Given the description of an element on the screen output the (x, y) to click on. 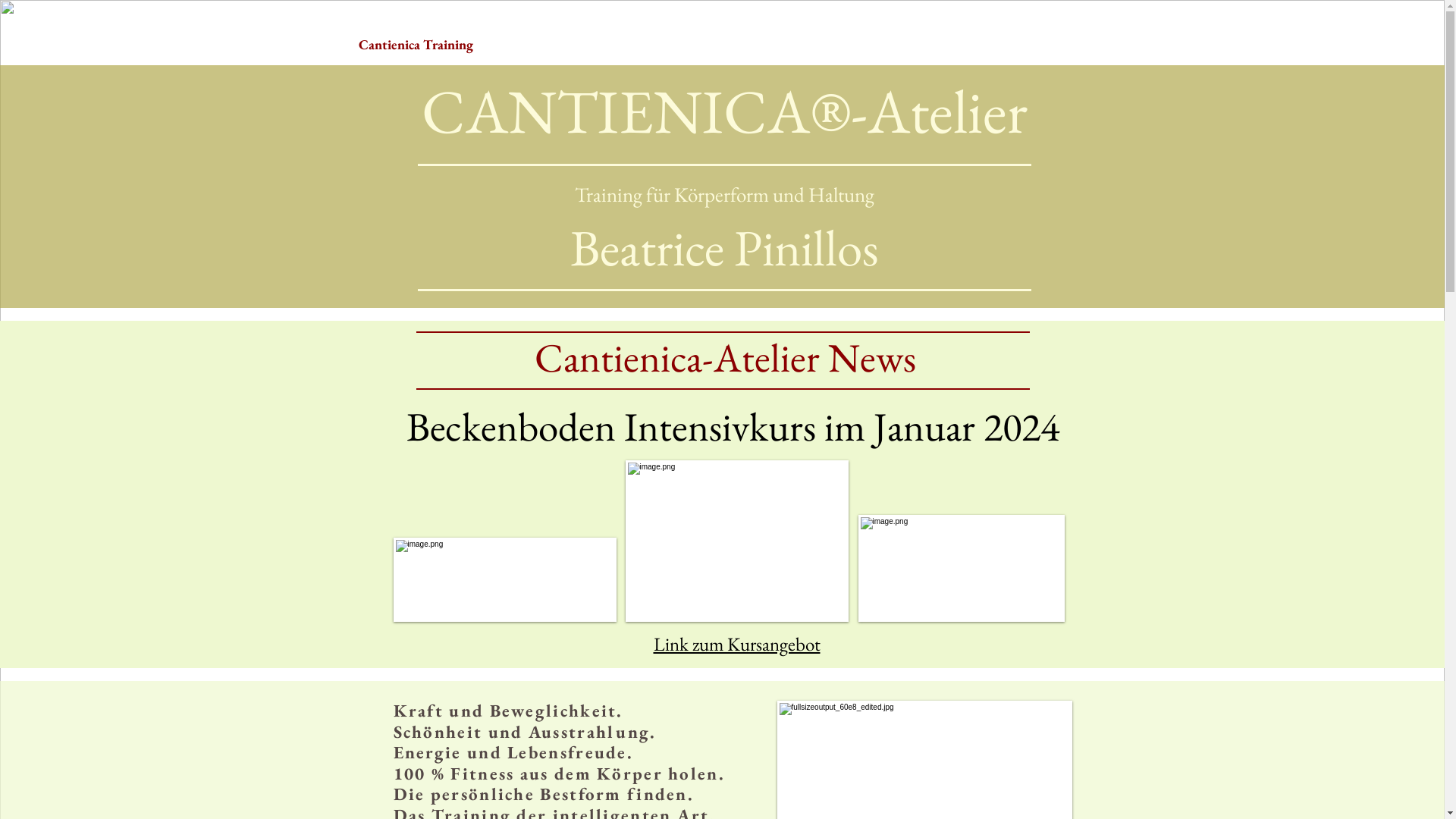
Link zum Kursangebot Element type: text (736, 643)
Beatrice Pinillos Element type: text (807, 44)
Cantienica Training Element type: text (456, 44)
Kontakt & AGB Element type: text (998, 44)
a7e366_d7bebc7ed15e4725b0f94769c6b5250a~mv2.png Element type: hover (735, 540)
Angebot Element type: text (638, 44)
a7e366_0b02673cfef54c239d92664533802539~mv2.png Element type: hover (961, 567)
a7e366_ac9c057aa3074897858f8625764e6b6a~mv2.png Element type: hover (503, 579)
